Given the description of an element on the screen output the (x, y) to click on. 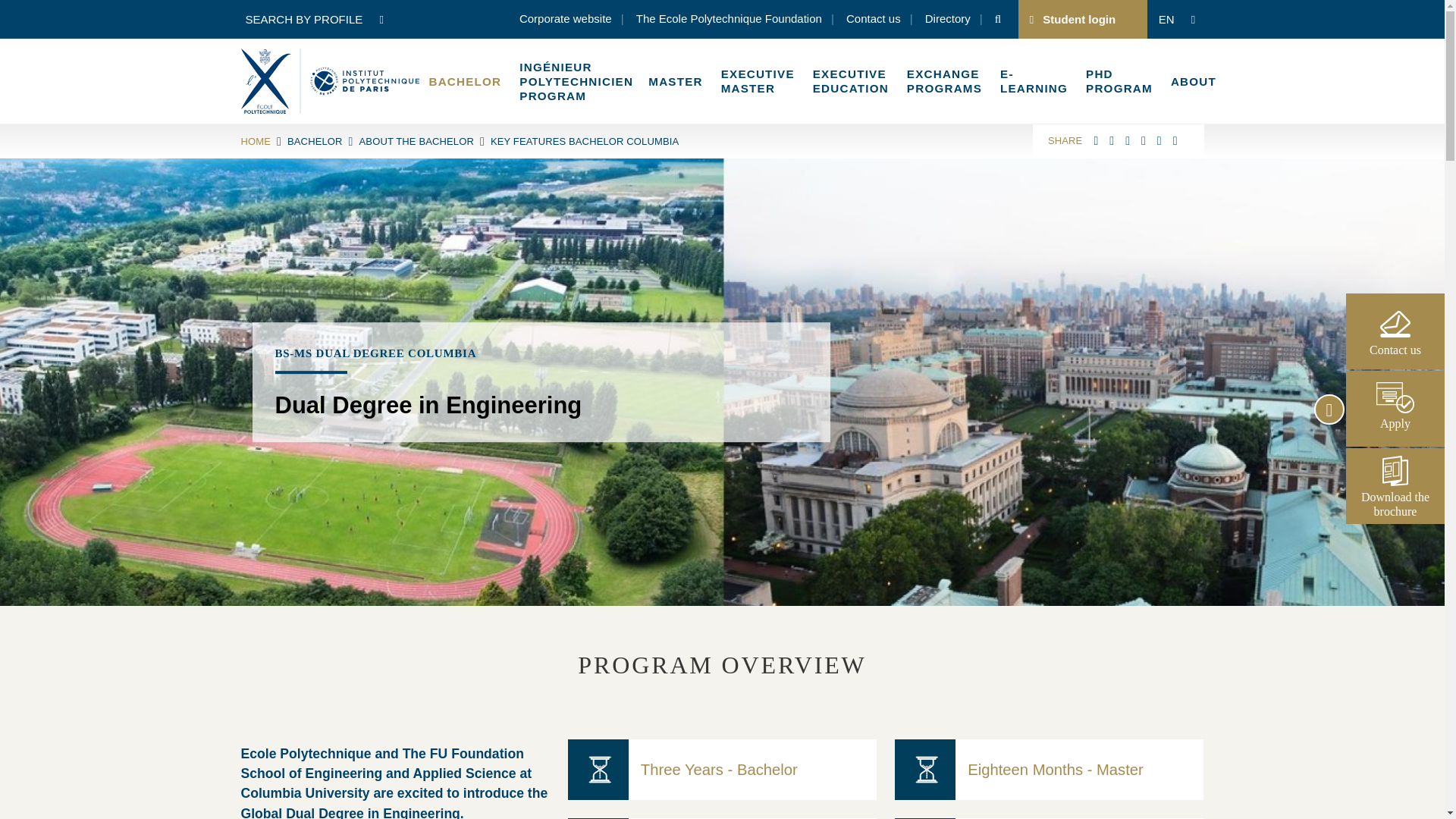
Student login (1078, 19)
The Ecole Polytechnique Foundation (729, 19)
Corporate website (565, 19)
Directory (947, 19)
Contact us (873, 19)
Home (330, 80)
